Given the description of an element on the screen output the (x, y) to click on. 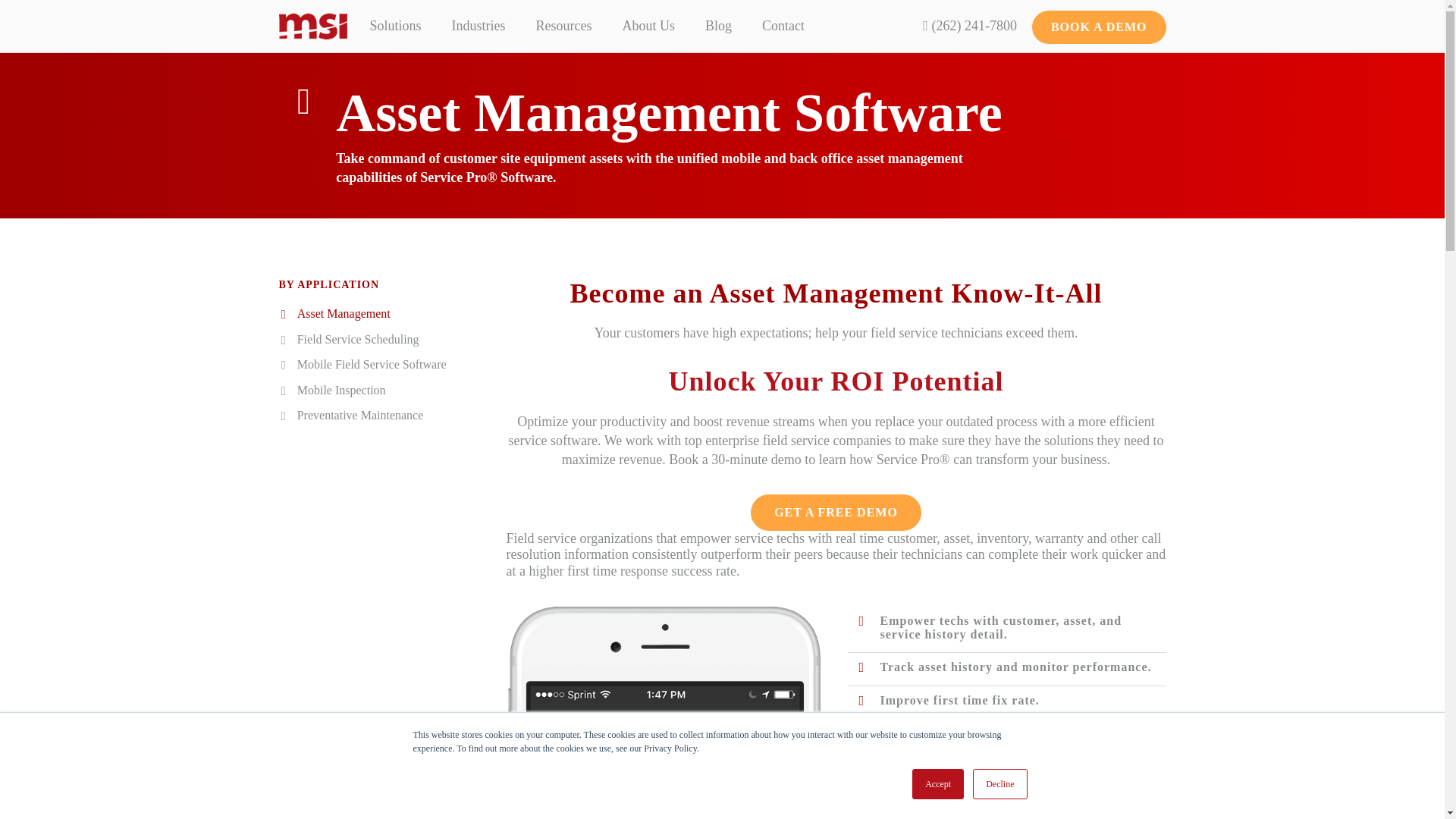
Decline (999, 784)
Industries (478, 26)
Accept (588, 26)
Solutions (937, 784)
